Given the description of an element on the screen output the (x, y) to click on. 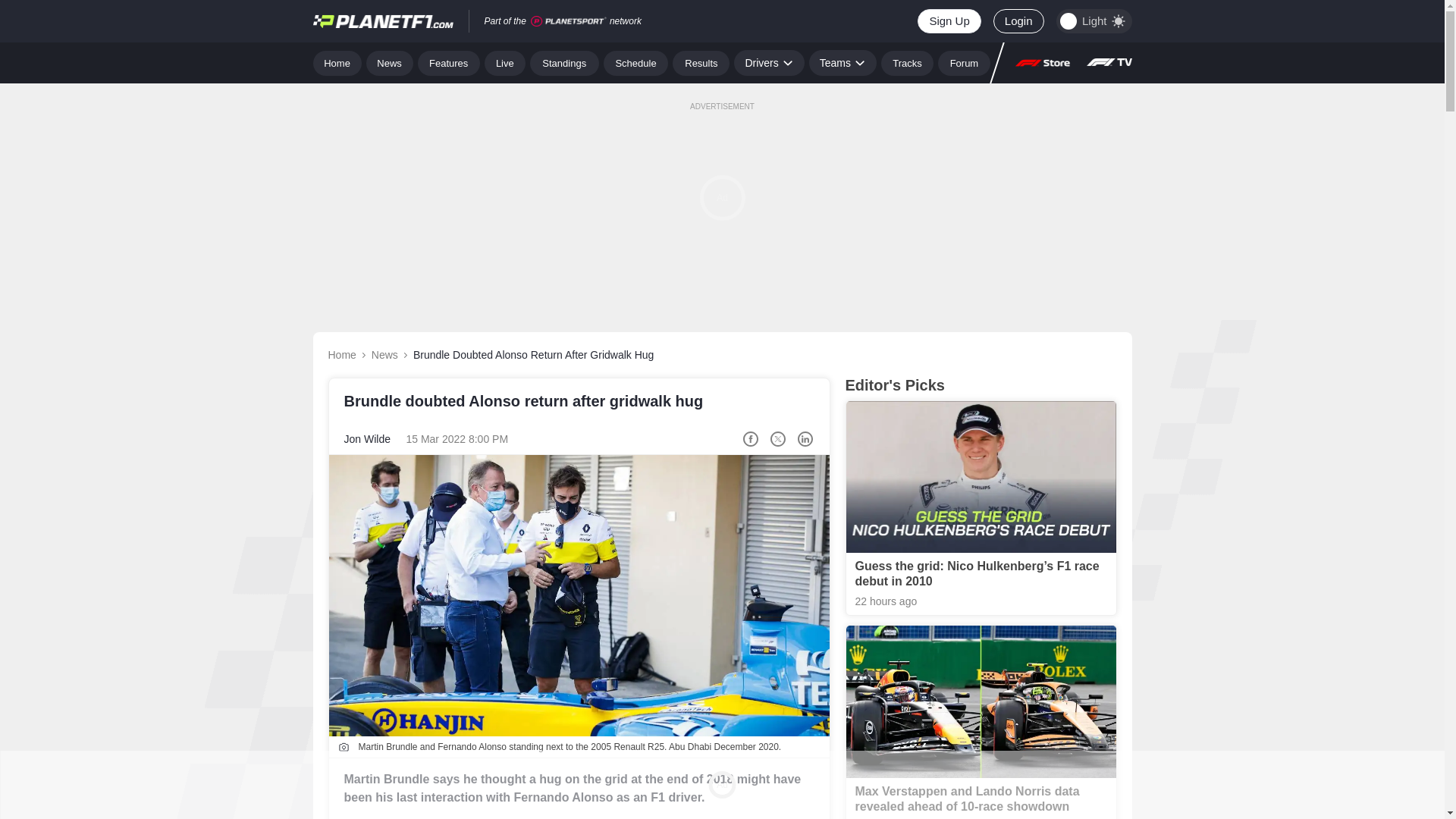
Features (448, 62)
Standings (563, 62)
Live (504, 62)
Schedule (636, 62)
Sign Up (948, 21)
Drivers (768, 62)
Home (337, 62)
News (389, 62)
Results (700, 62)
Teams (842, 62)
